Given the description of an element on the screen output the (x, y) to click on. 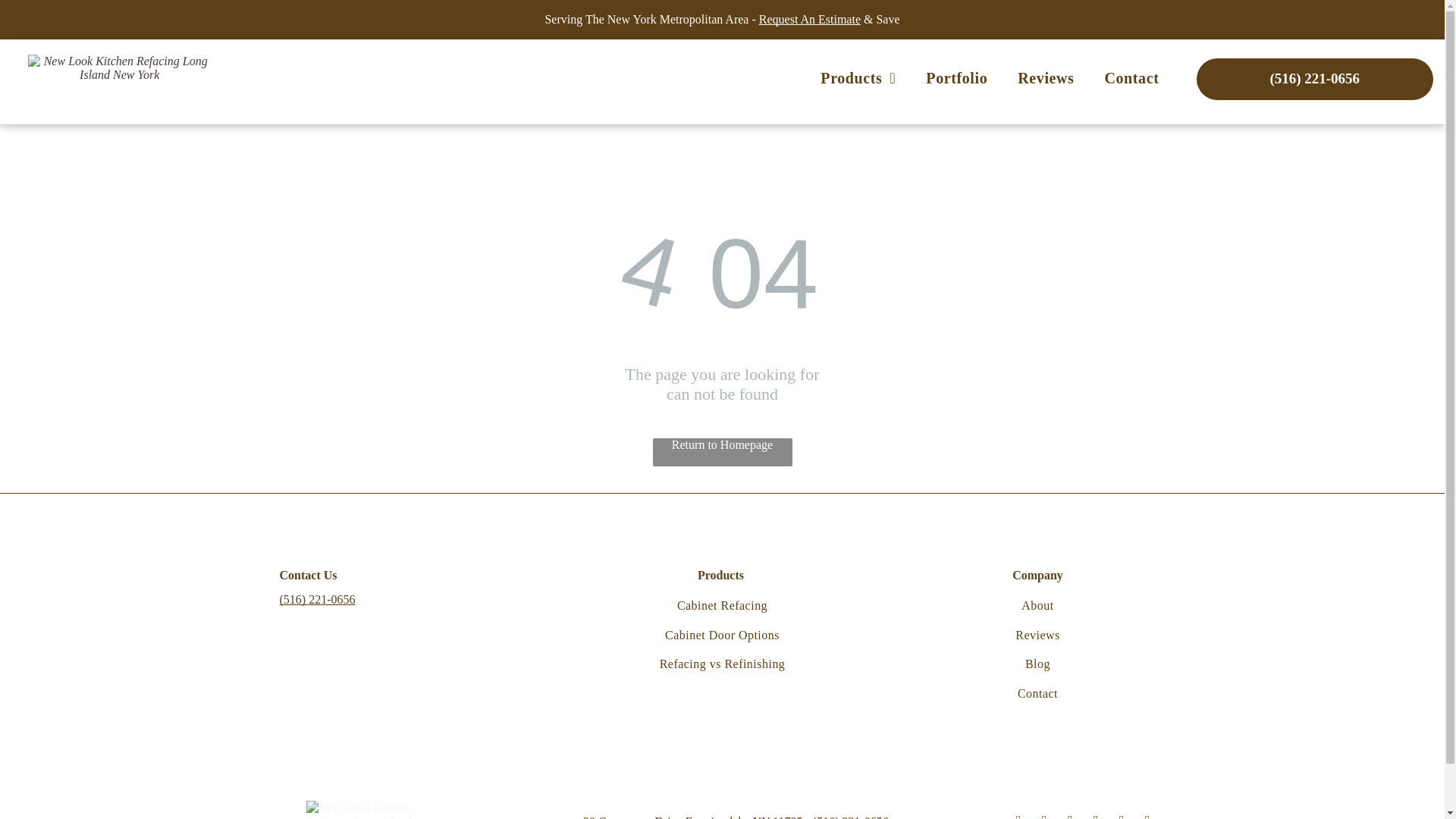
Refacing vs Refinishing (721, 664)
Request An Estimate (809, 19)
Return to Homepage (722, 452)
About (1037, 605)
Reviews (1037, 635)
Portfolio (957, 77)
Reviews (1046, 77)
Cabinet Refacing (721, 605)
Cabinet Door Options (721, 635)
Contact (1037, 692)
